Given the description of an element on the screen output the (x, y) to click on. 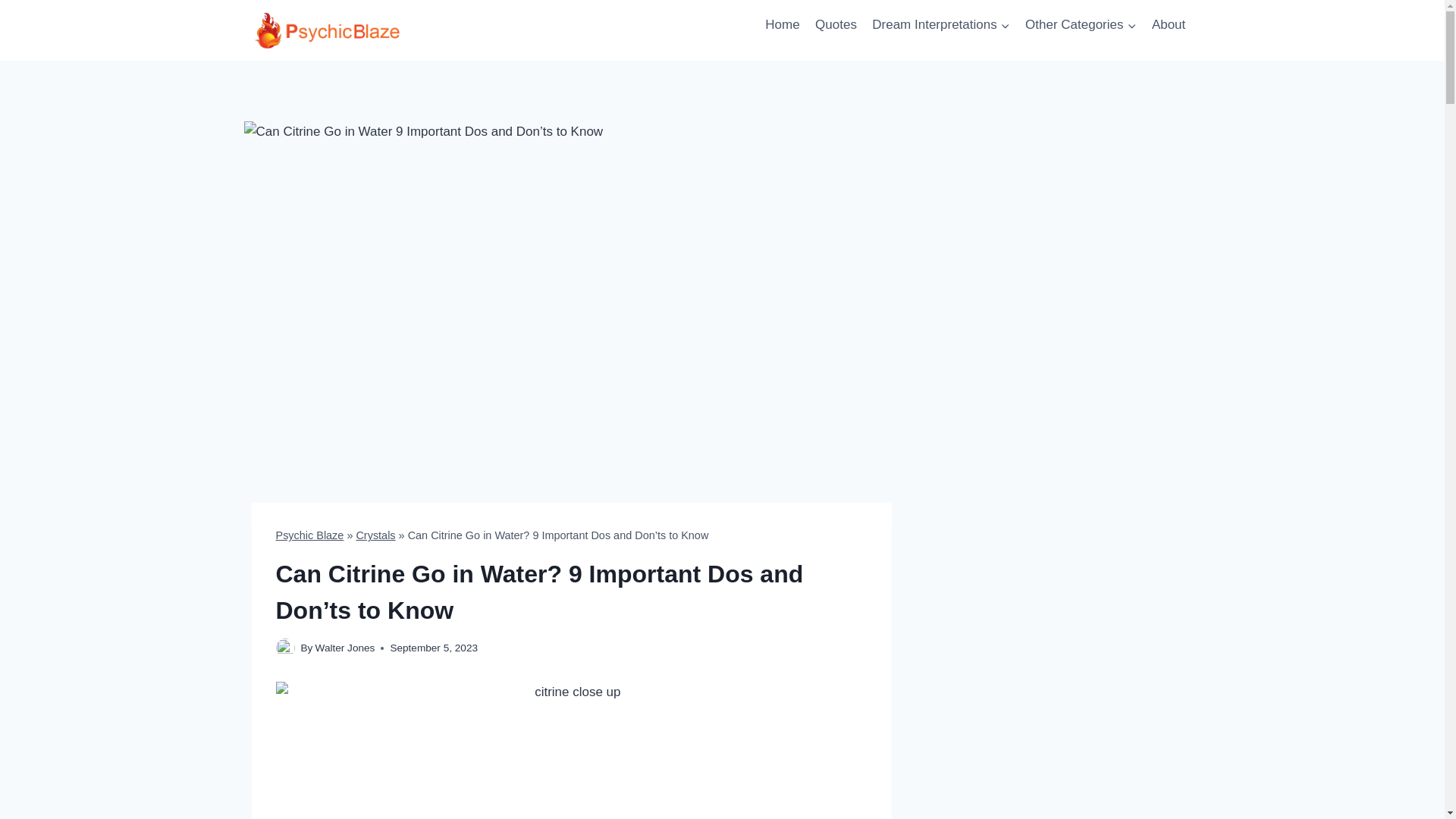
Other Categories (1080, 24)
Psychic Blaze (309, 535)
Quotes (836, 24)
Walter Jones (345, 647)
About (1168, 24)
Dream Interpretations (940, 24)
Crystals (374, 535)
Home (782, 24)
